Given the description of an element on the screen output the (x, y) to click on. 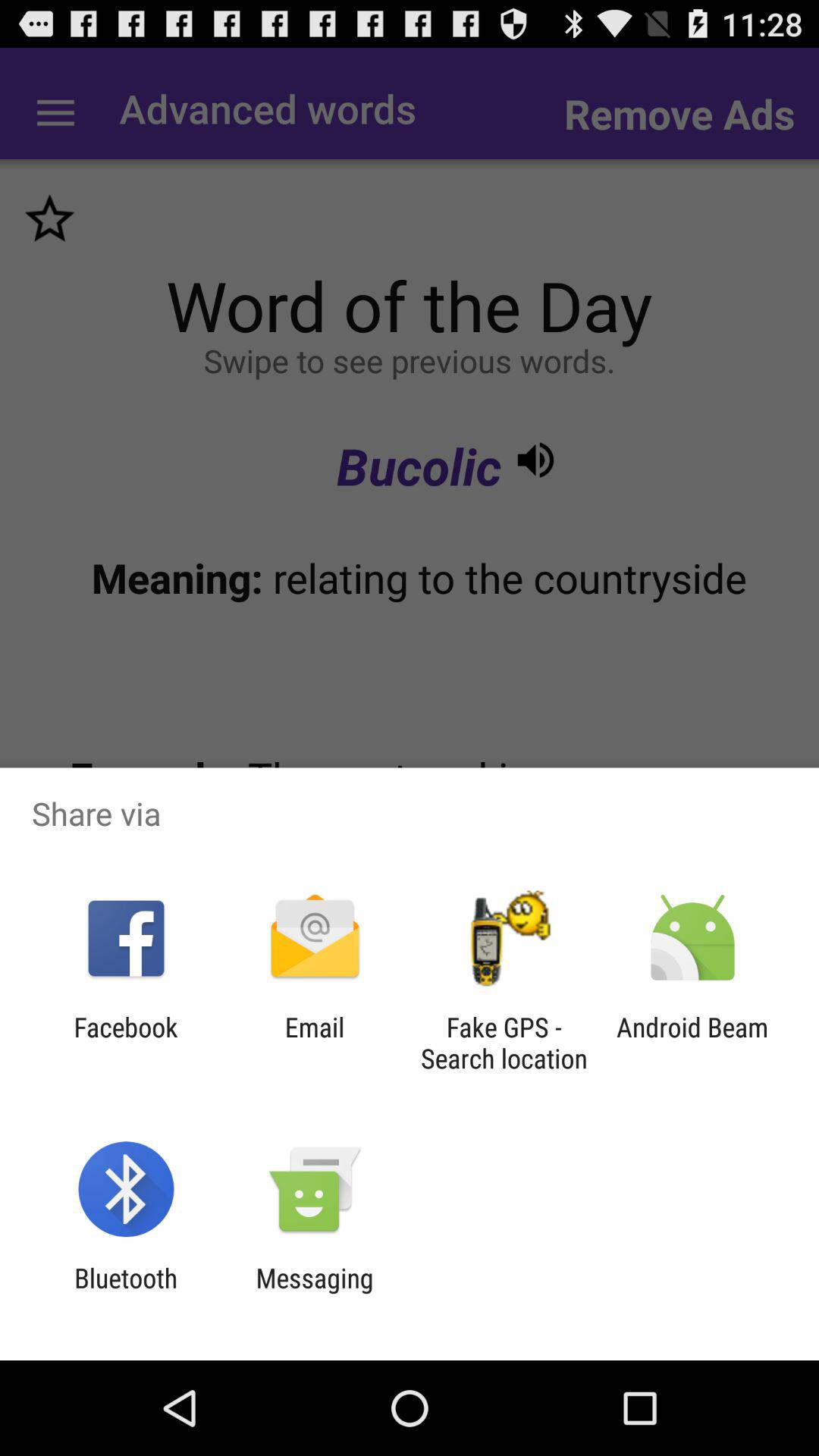
scroll to fake gps search item (503, 1042)
